Given the description of an element on the screen output the (x, y) to click on. 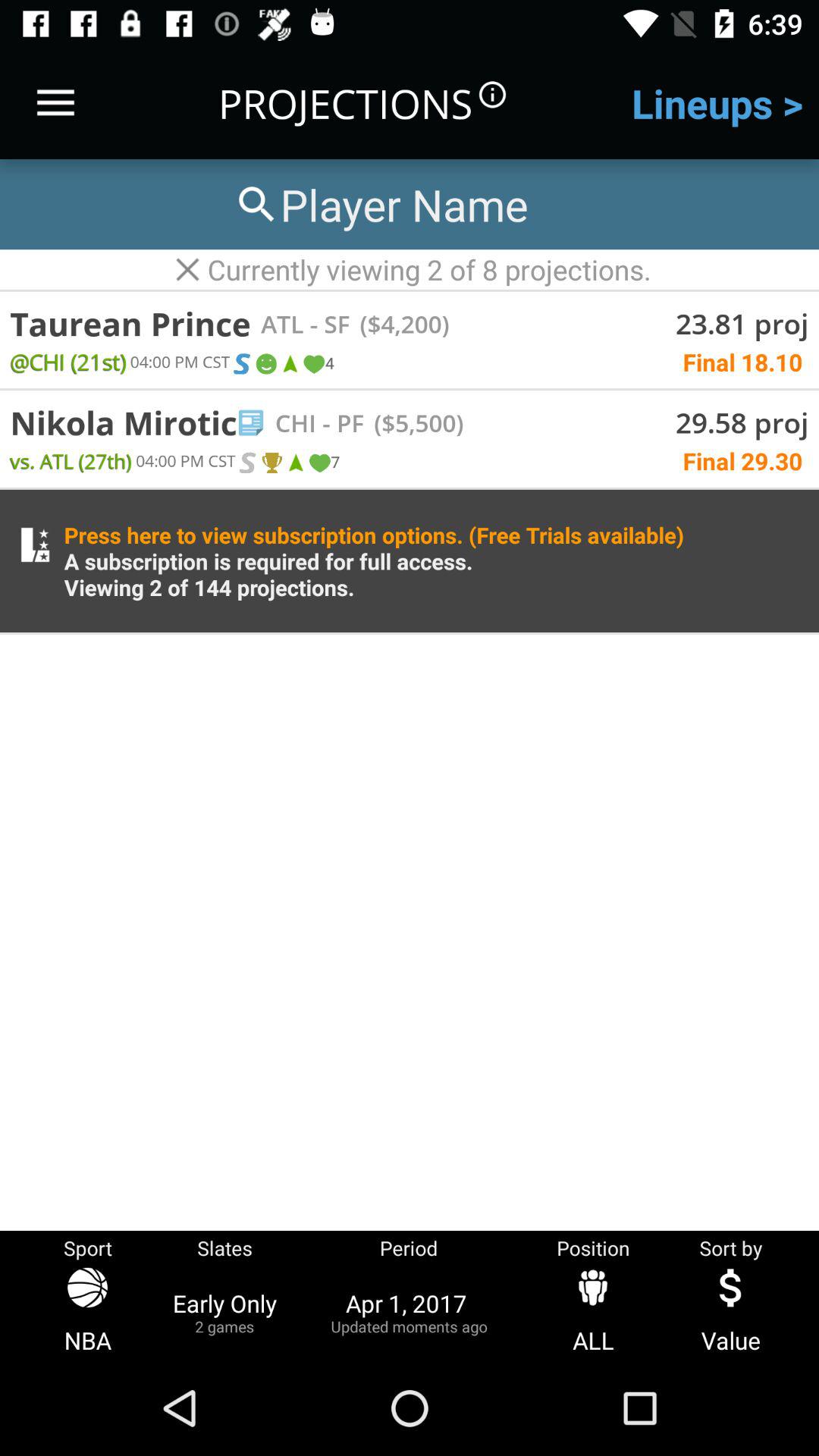
search names (380, 204)
